Given the description of an element on the screen output the (x, y) to click on. 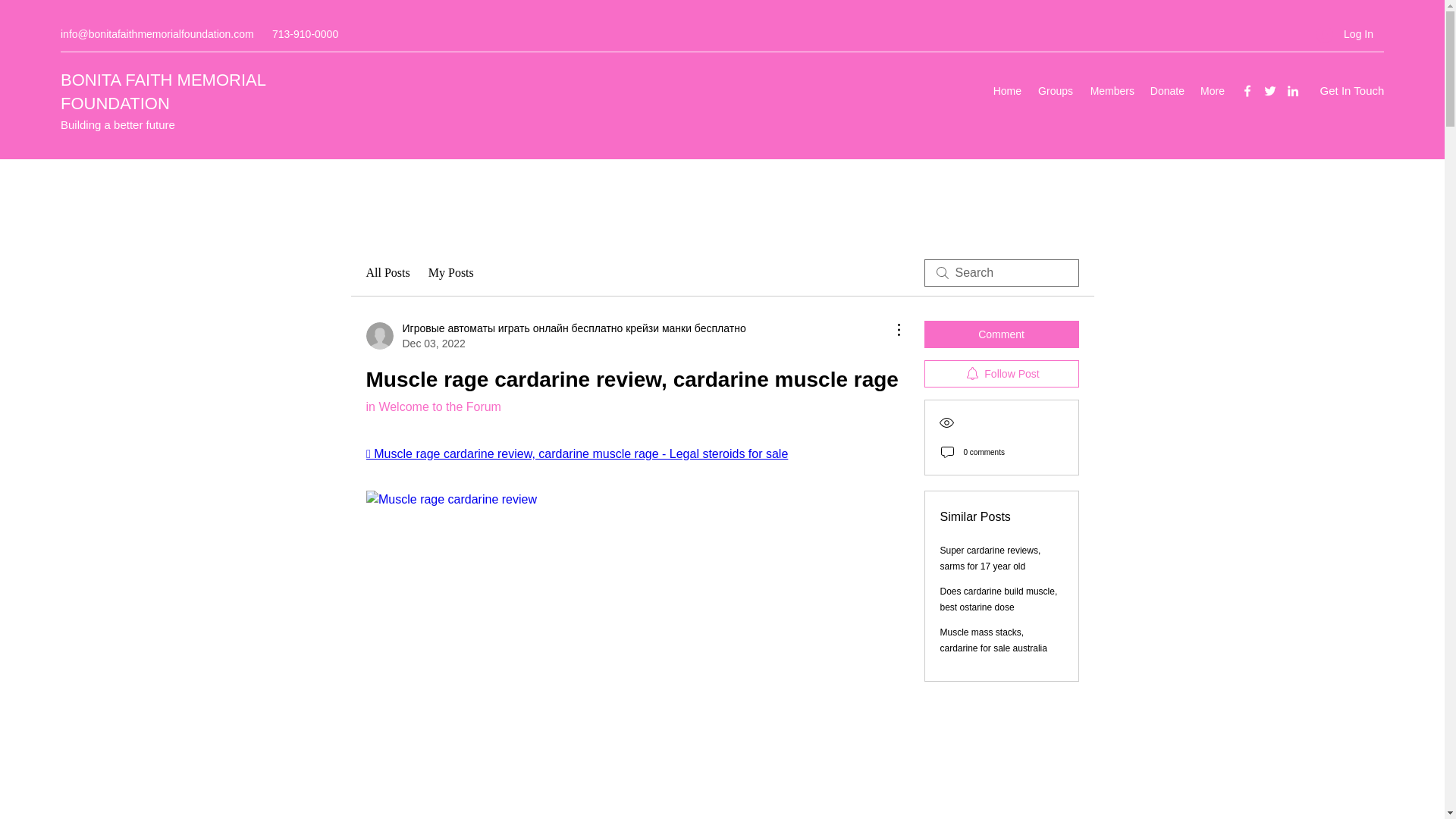
Home (1007, 90)
All Posts (387, 272)
Groups (1054, 90)
Log In (1345, 34)
in Welcome to the Forum (432, 406)
Follow Post (1000, 373)
Members (1110, 90)
Get In Touch (1351, 91)
Super cardarine reviews, sarms for 17 year old (990, 558)
Comment (1000, 334)
My Posts (451, 272)
Does cardarine build muscle, best ostarine dose (999, 599)
Donate (1166, 90)
BONITA FAITH MEMORIAL FOUNDATION (162, 91)
